Given the description of an element on the screen output the (x, y) to click on. 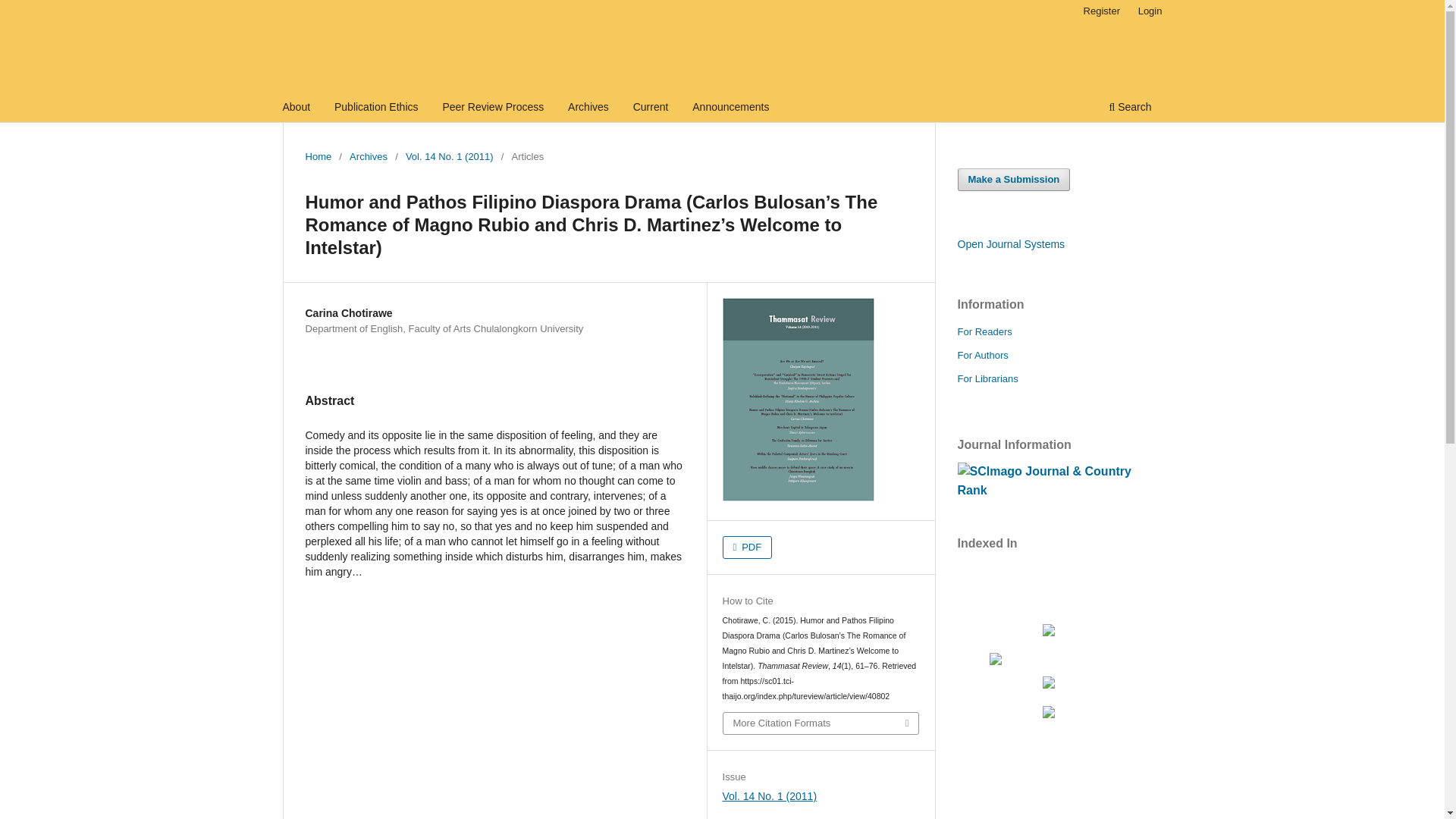
ACI (1048, 632)
Thai-Journal Citation Index (1048, 684)
Current (650, 108)
Search (1129, 108)
Home (317, 156)
Archives (368, 156)
Register (1100, 11)
Publication Ethics (376, 108)
Peer Review Process (492, 108)
Archives (588, 108)
More Citation Formats (820, 722)
About (296, 108)
Announcements (730, 108)
Login (1150, 11)
GS (1048, 714)
